Given the description of an element on the screen output the (x, y) to click on. 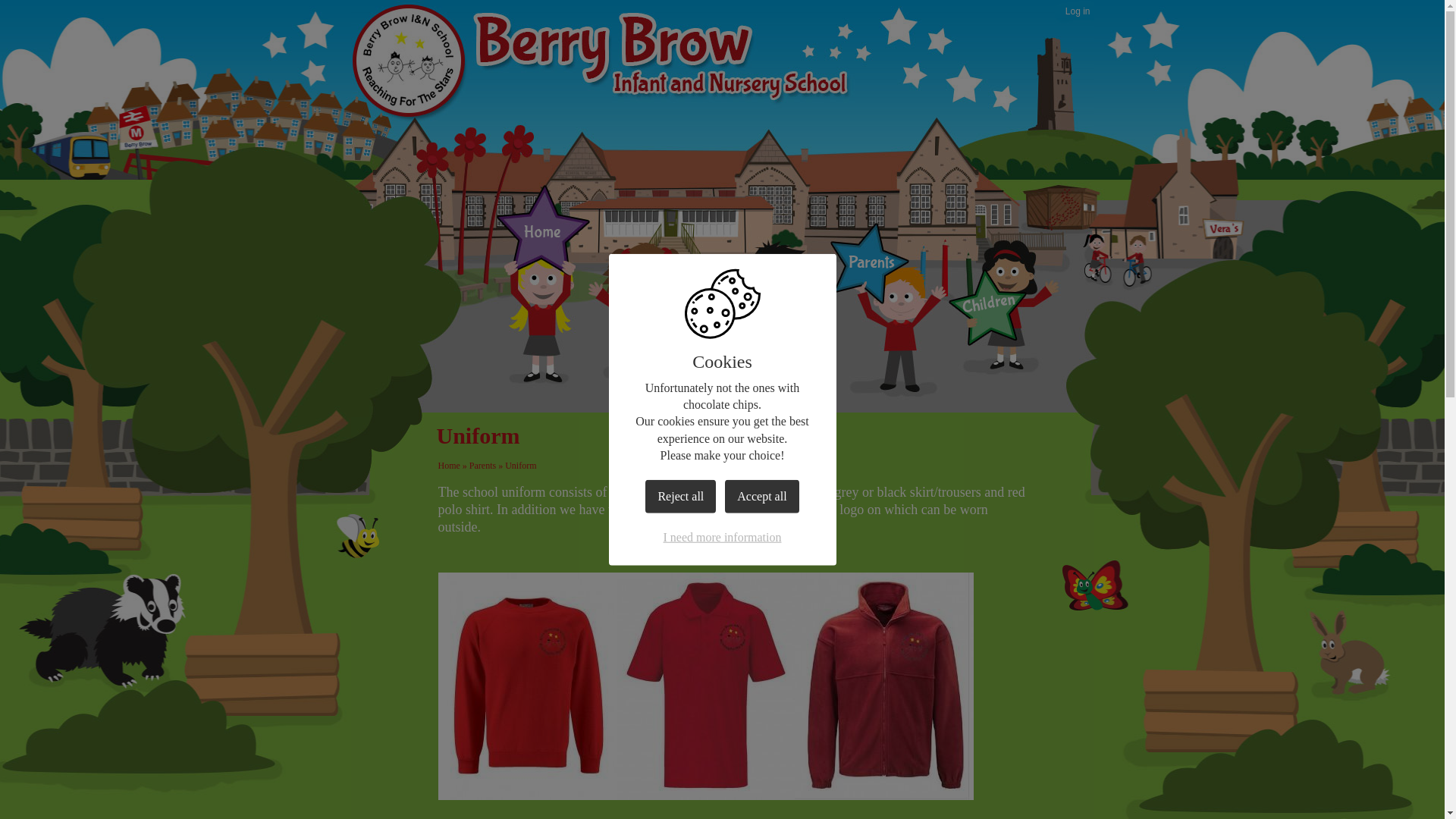
Uniform (520, 465)
Log in (1077, 12)
Key Information (766, 334)
Our School (660, 324)
Parents (482, 465)
Home (541, 234)
Home (449, 465)
Home Page (409, 60)
Home Page (409, 60)
